Given the description of an element on the screen output the (x, y) to click on. 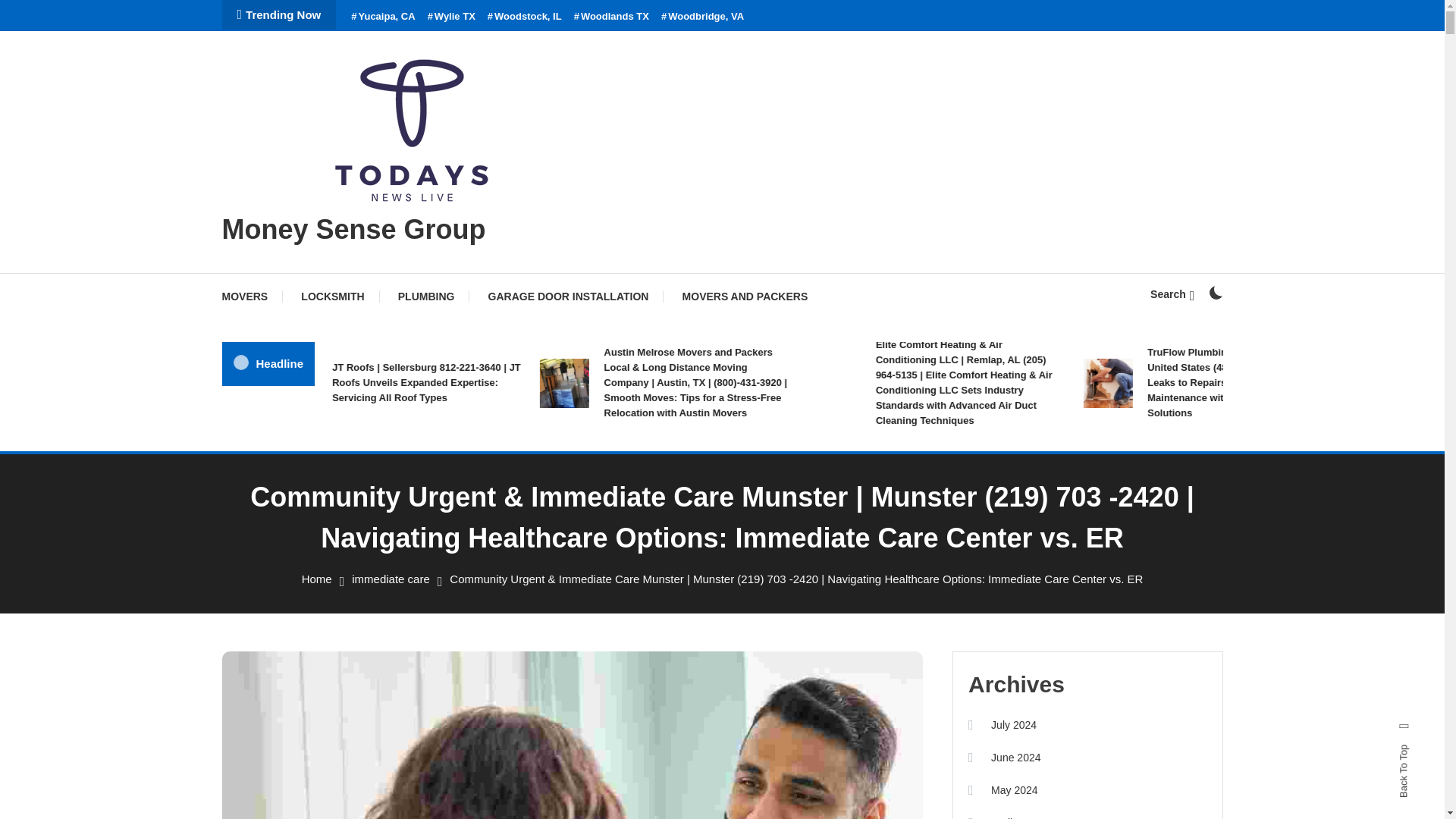
Woodstock, IL (524, 16)
Yucaipa, CA (382, 16)
immediate care (390, 578)
LOCKSMITH (331, 296)
Home (316, 578)
MOVERS AND PACKERS (745, 296)
MOVERS (251, 296)
on (1215, 292)
Search (1171, 294)
Money Sense Group (352, 228)
PLUMBING (426, 296)
Wylie TX (452, 16)
Woodlands TX (611, 16)
Woodbridge, VA (702, 16)
Search (768, 434)
